Given the description of an element on the screen output the (x, y) to click on. 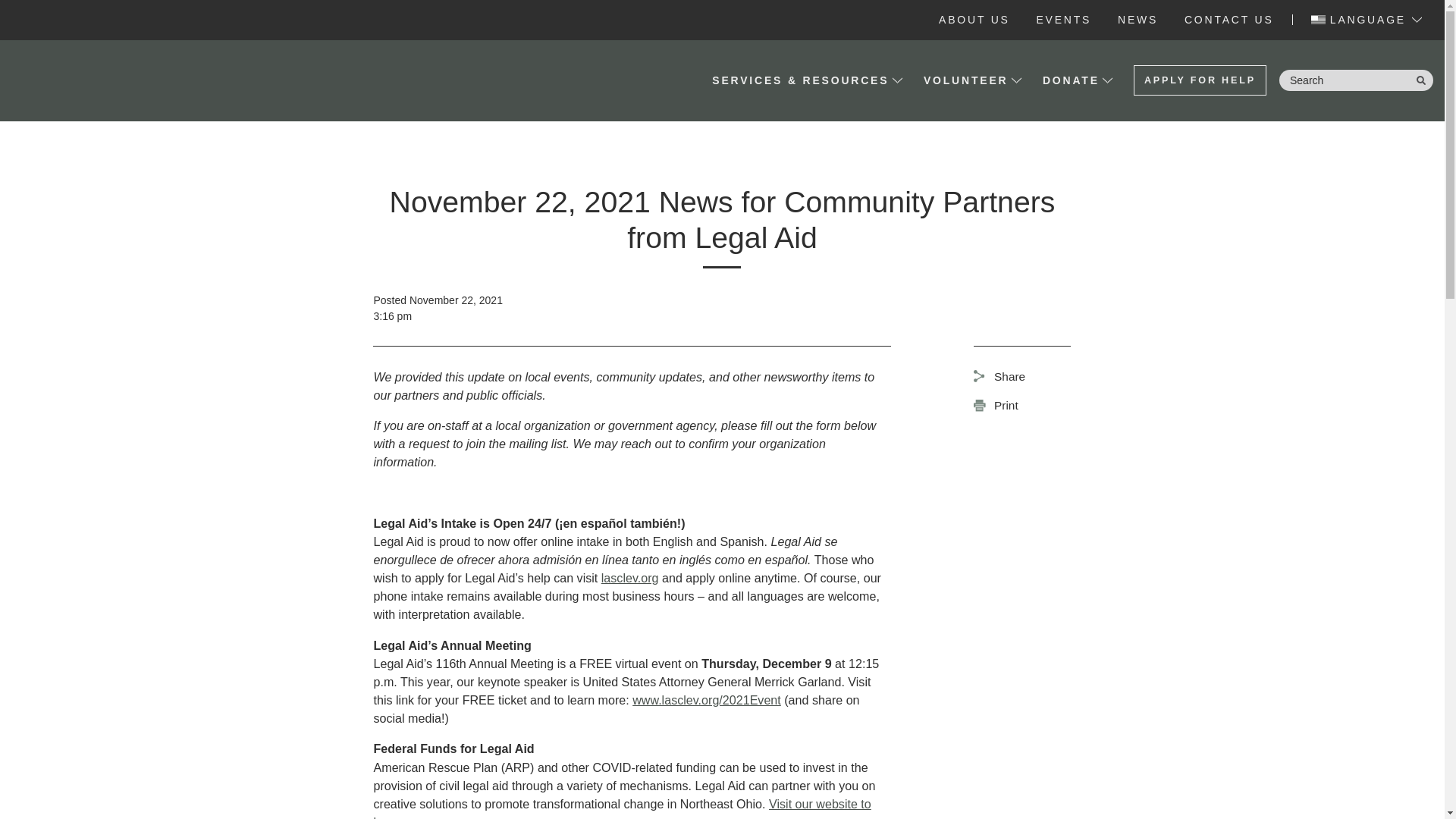
VOLUNTEER (966, 80)
Search (1355, 79)
ABOUT US (974, 19)
Search (1355, 79)
NEWS (1137, 19)
DONATE (1070, 80)
CONTACT US (1229, 19)
Legal Aid Society of Cleveland (94, 80)
LANGUAGE (1368, 19)
EVENTS (1062, 19)
